Given the description of an element on the screen output the (x, y) to click on. 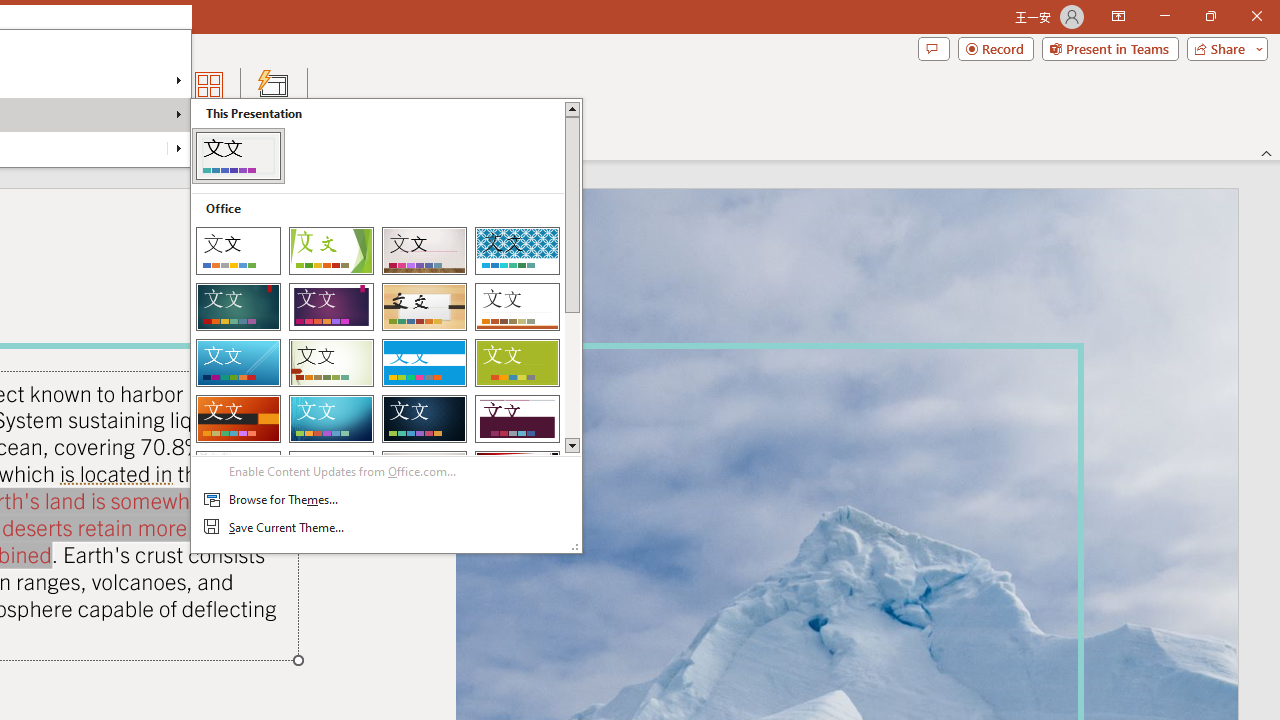
Find... (51, 78)
Themes (385, 325)
